Given the description of an element on the screen output the (x, y) to click on. 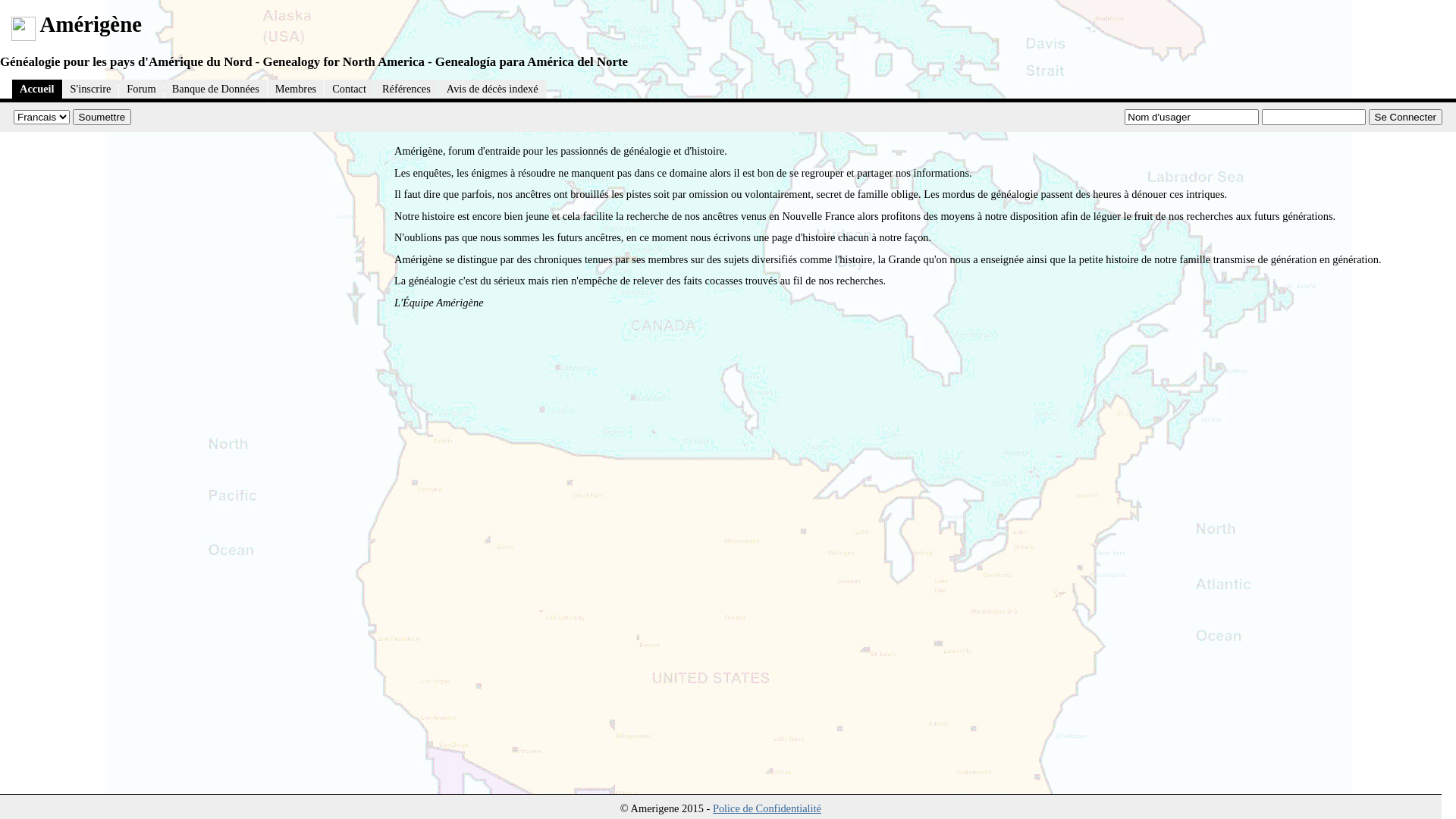
S'inscrire Element type: text (90, 88)
Soumettre Element type: text (101, 117)
Se Connecter Element type: text (1405, 117)
Contact Element type: text (348, 88)
Membres Element type: text (295, 88)
Forum Element type: text (141, 88)
Accueil Element type: text (37, 88)
